Given the description of an element on the screen output the (x, y) to click on. 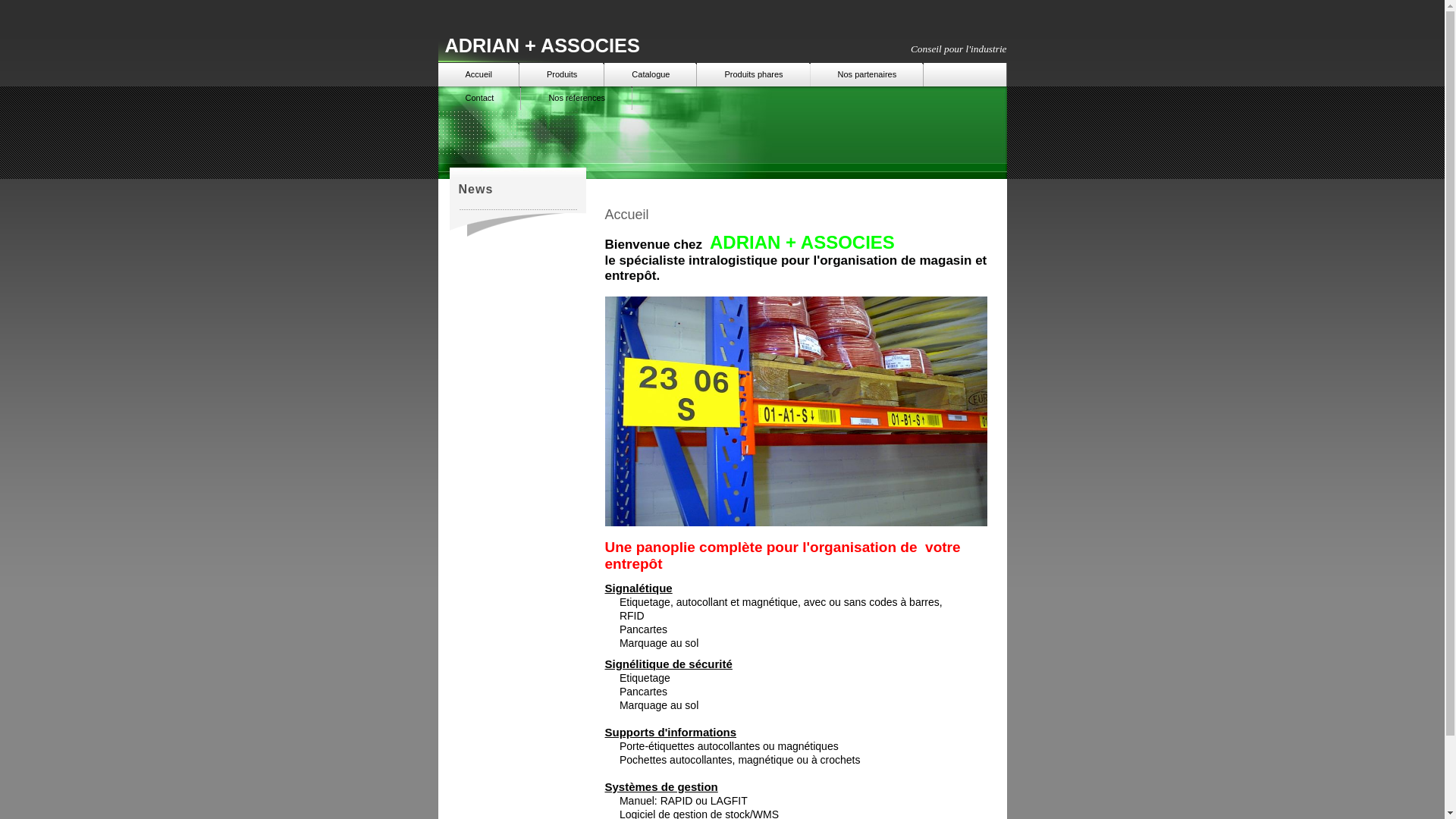
Produits phares Element type: text (753, 73)
Catalogue Element type: text (650, 73)
Nos partenaires Element type: text (867, 73)
Accueil Element type: text (478, 73)
Contact Element type: text (479, 97)
Produits Element type: text (561, 73)
